Given the description of an element on the screen output the (x, y) to click on. 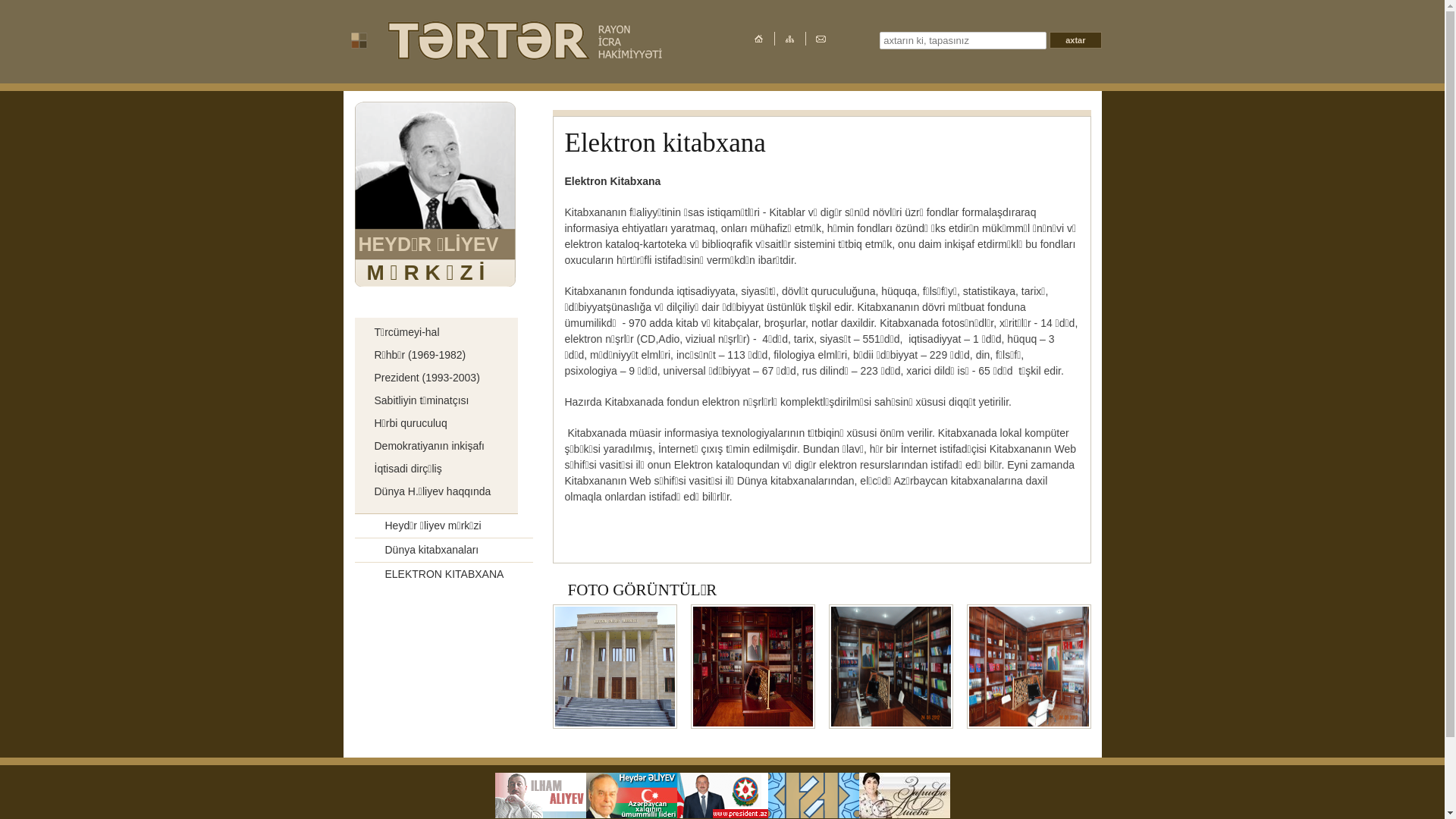
Optional caption. Element type: hover (614, 722)
Optional caption. Element type: hover (890, 722)
Optional caption. Element type: hover (752, 722)
Optional caption. Element type: hover (1028, 722)
axtar Element type: text (1075, 39)
ELEKTRON KITABXANA Element type: text (429, 573)
Prezident (1993-2003) Element type: text (421, 377)
